Given the description of an element on the screen output the (x, y) to click on. 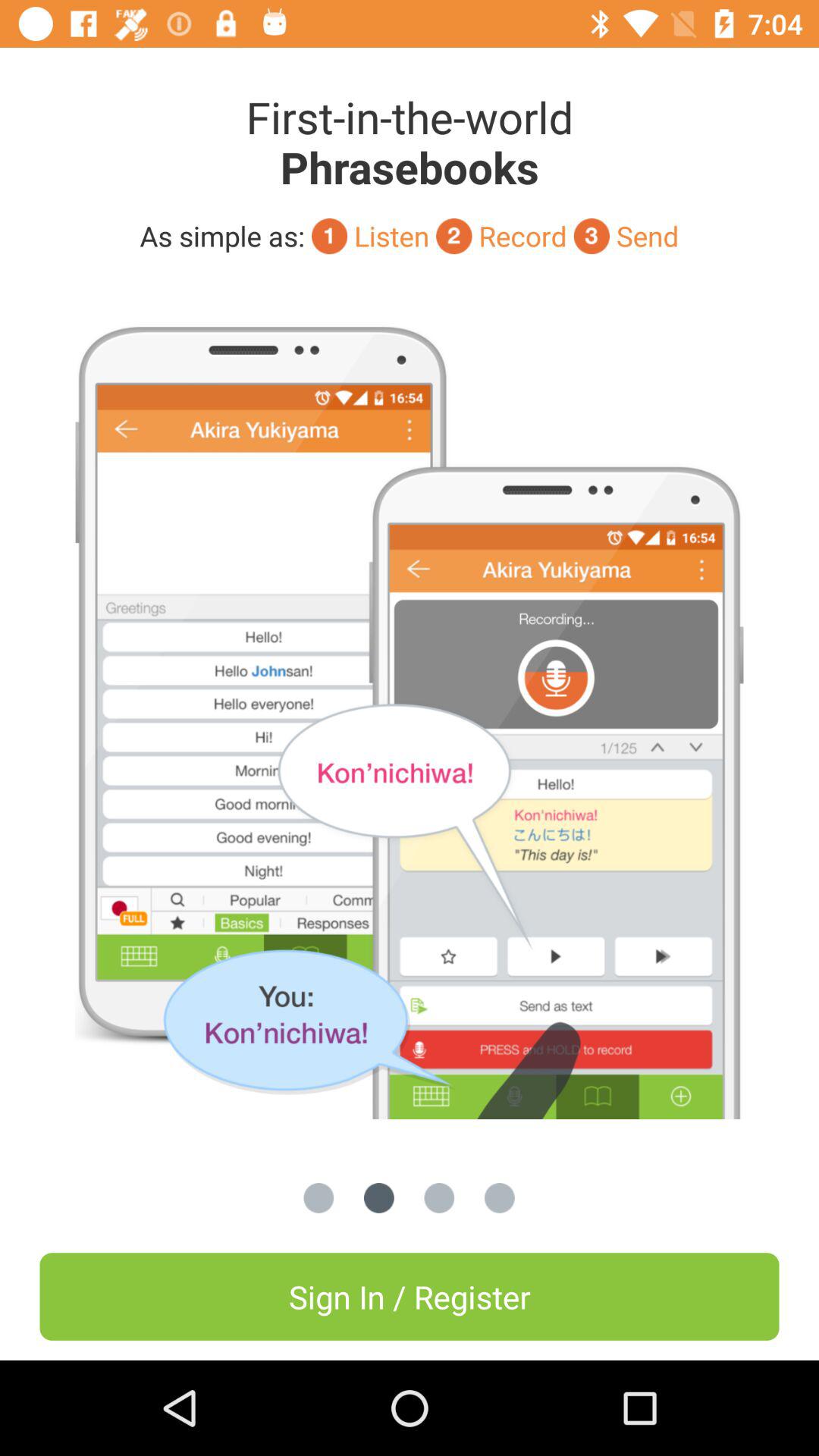
select the sign in / register item (409, 1296)
